Given the description of an element on the screen output the (x, y) to click on. 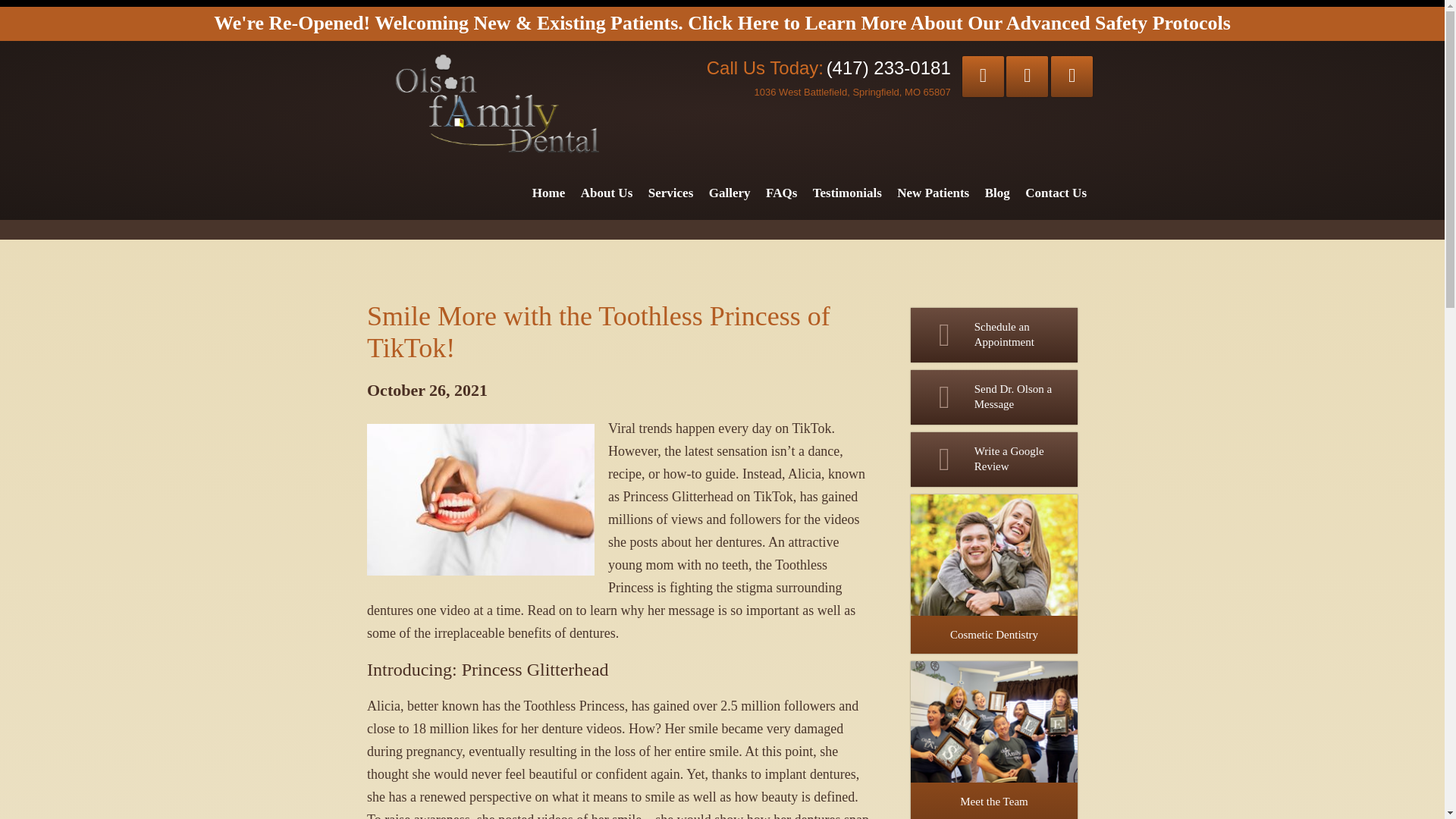
About Us (607, 193)
Services (670, 193)
Gallery (730, 193)
1036 West Battlefield, Springfield, MO 65807 (852, 91)
